Given the description of an element on the screen output the (x, y) to click on. 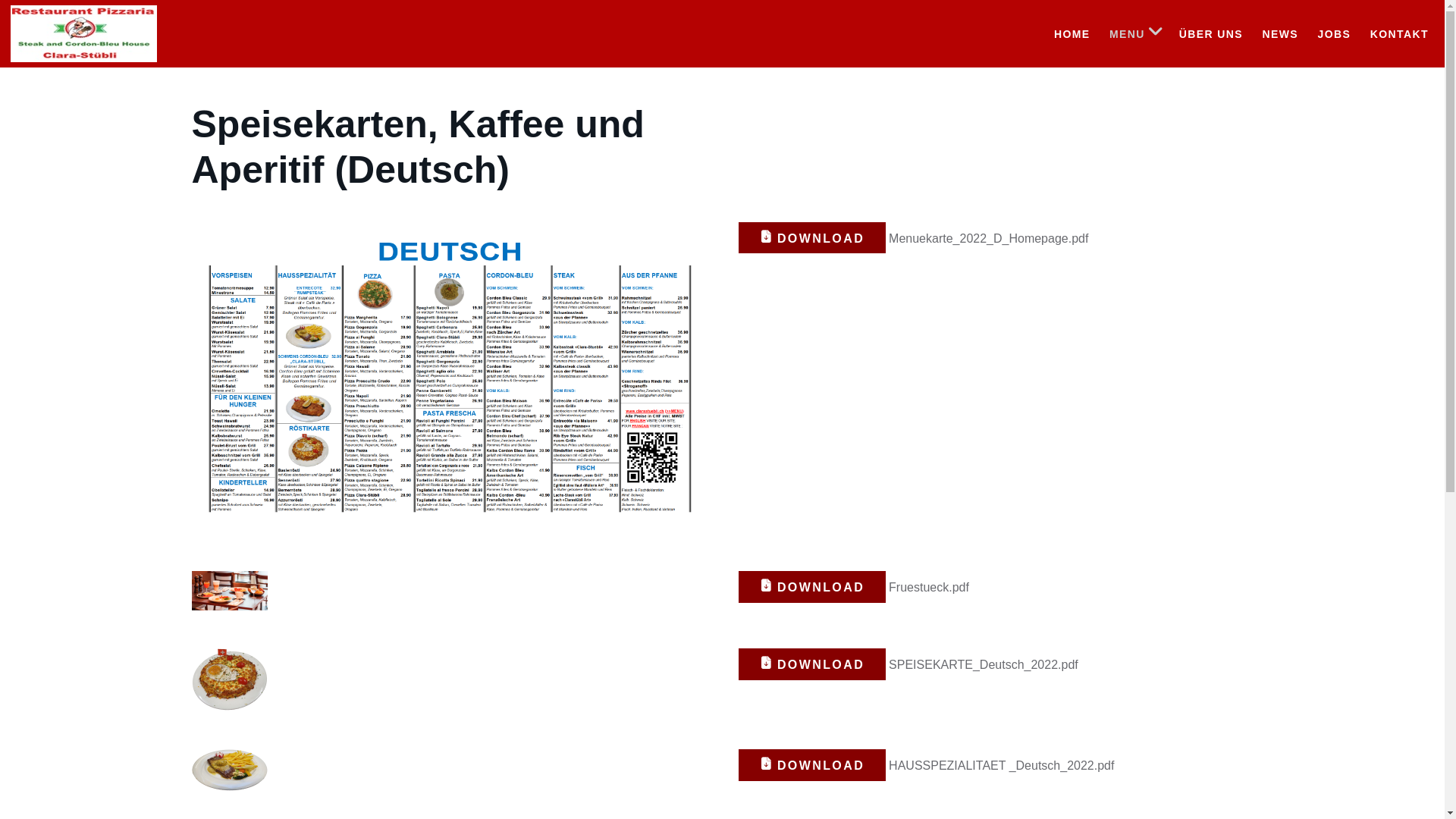
DOWNLOAD Element type: text (812, 586)
DOWNLOAD Element type: text (812, 764)
JOBS Element type: text (1331, 32)
DOWNLOAD Element type: text (812, 663)
KONTAKT Element type: text (1396, 32)
HOME Element type: text (1069, 32)
NEWS Element type: text (1277, 32)
DOWNLOAD Element type: text (812, 237)
